Given the description of an element on the screen output the (x, y) to click on. 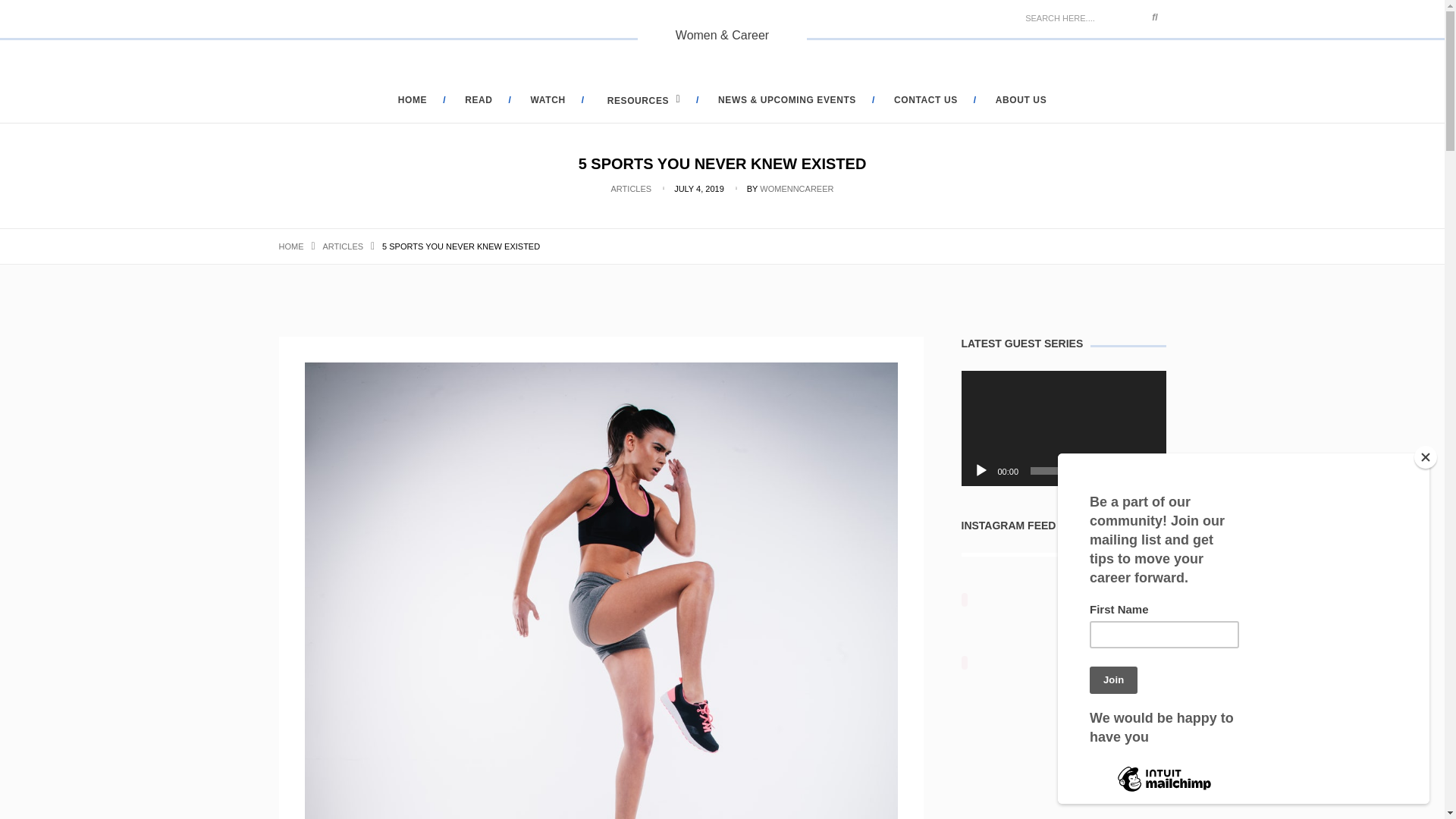
Play (981, 470)
HOME (411, 100)
HOME (291, 245)
WATCH (548, 100)
ARTICLES (343, 245)
Mute (1122, 470)
RESOURCES (641, 101)
ABOUT US (1020, 100)
Fullscreen (1146, 470)
articles (343, 245)
CONTACT US (925, 100)
ARTICLES (631, 188)
WOMENNCAREER (796, 188)
READ (478, 100)
Browse to: Home (291, 245)
